Given the description of an element on the screen output the (x, y) to click on. 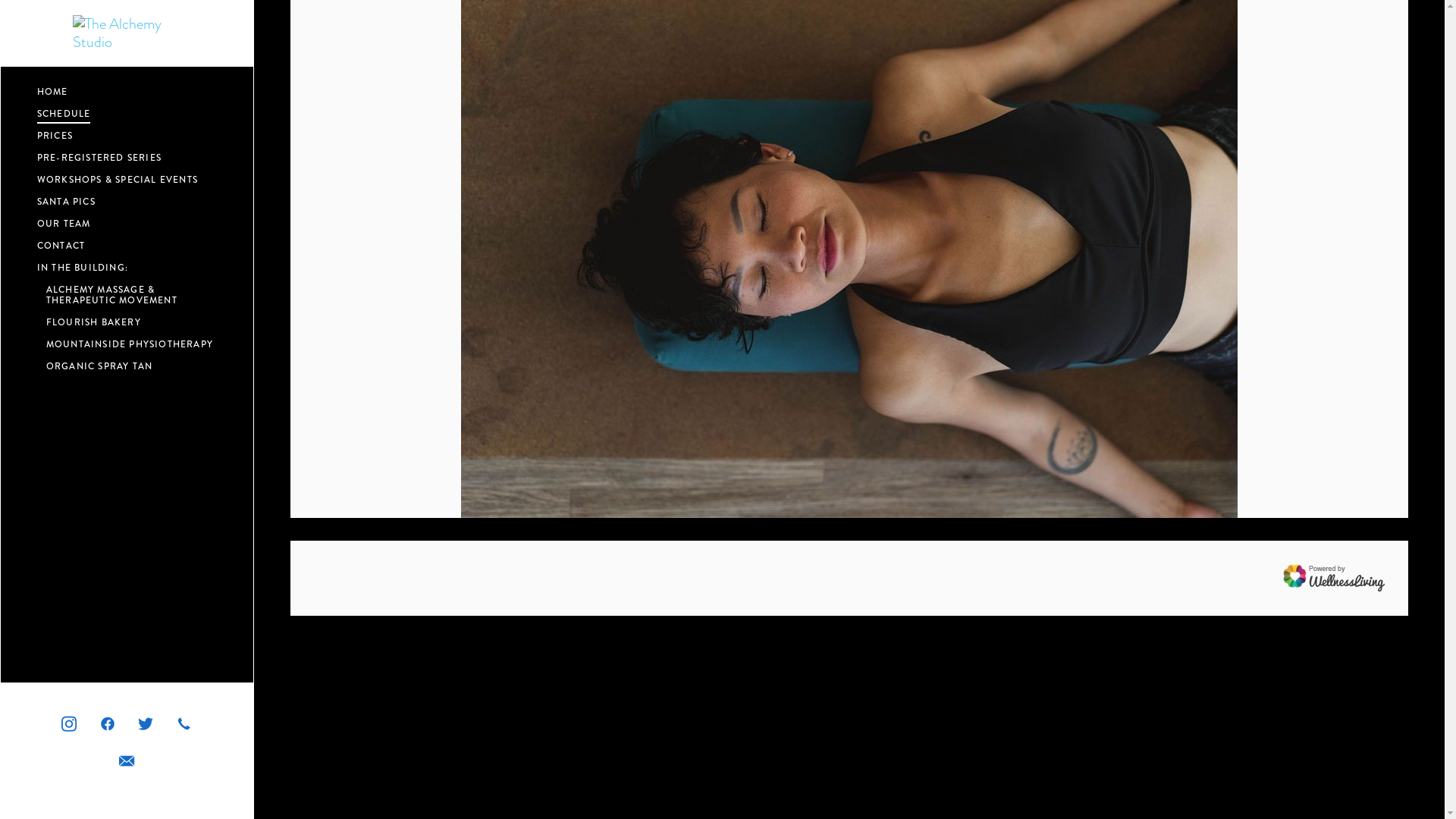
SCHEDULE Element type: text (64, 112)
MOUNTAINSIDE PHYSIOTHERAPY Element type: text (131, 343)
PRICES Element type: text (54, 134)
HOME Element type: text (52, 90)
FLOURISH BAKERY Element type: text (131, 321)
WORKSHOPS & SPECIAL EVENTS Element type: text (117, 178)
SANTA PICS Element type: text (66, 200)
OUR TEAM Element type: text (64, 222)
ALCHEMY MASSAGE & THERAPEUTIC MOVEMENT Element type: text (131, 293)
ORGANIC SPRAY TAN Element type: text (131, 365)
CONTACT Element type: text (60, 244)
The Alchemy Studio Element type: hover (127, 33)
PRE-REGISTERED SERIES Element type: text (99, 156)
